Given the description of an element on the screen output the (x, y) to click on. 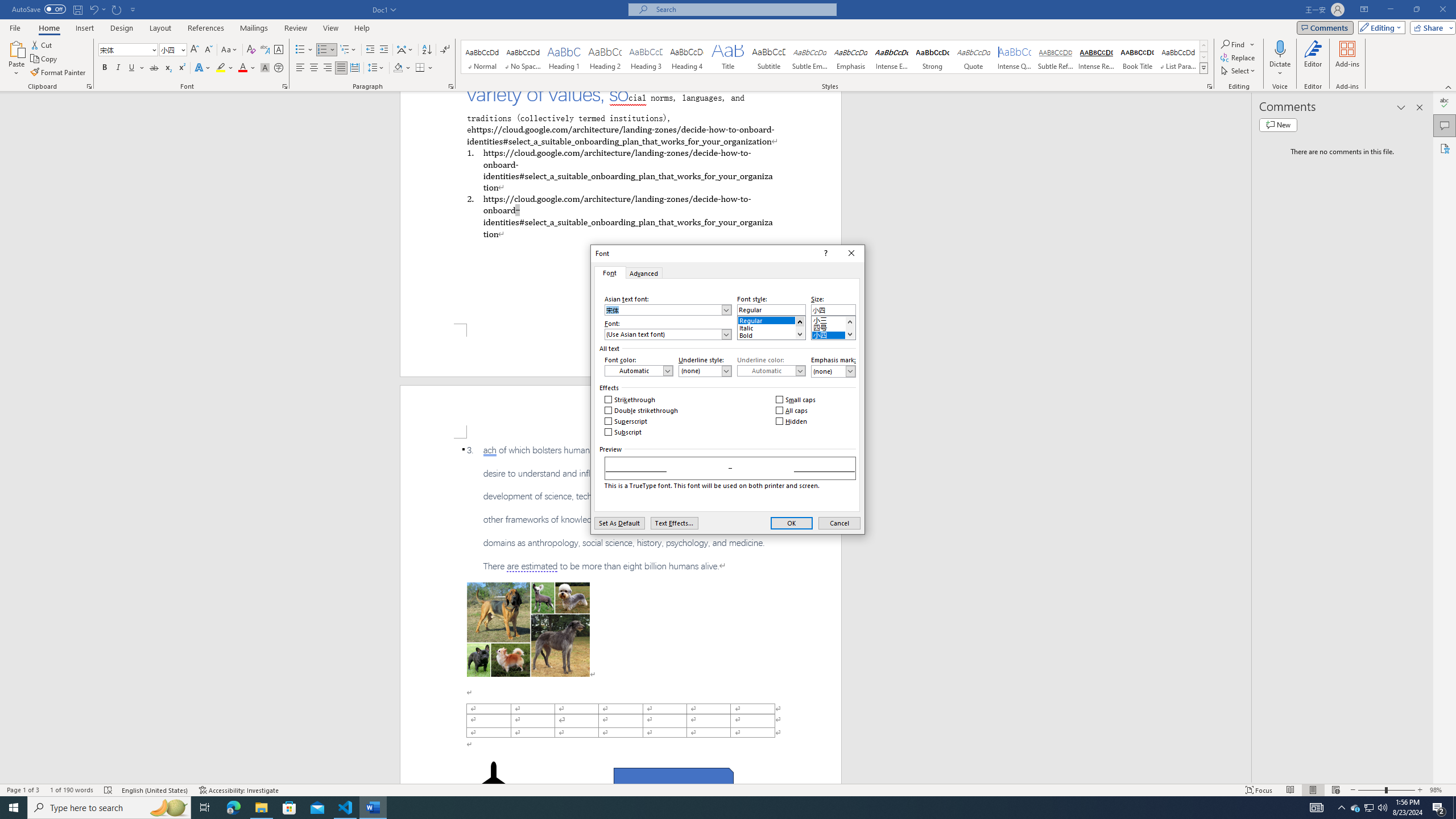
Double strikethrough (641, 410)
Repeat Style (117, 9)
Size: (833, 309)
File Explorer - 1 running window (261, 807)
Replace... (1237, 56)
